Given the description of an element on the screen output the (x, y) to click on. 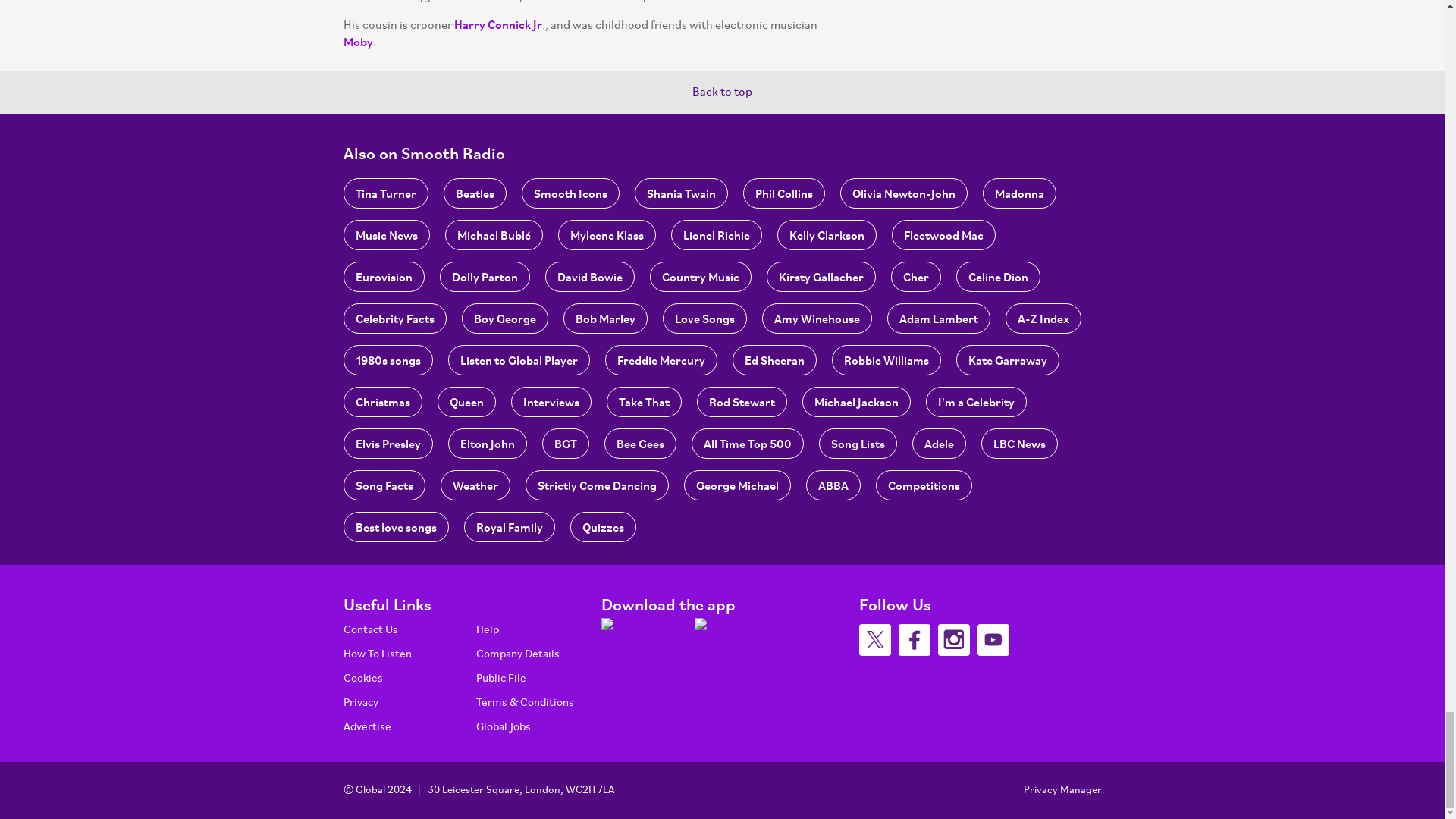
Follow Smooth on Youtube (992, 640)
Back to top (722, 92)
Follow Smooth on Instagram (953, 640)
Follow Smooth on Facebook (914, 640)
Follow Smooth on X (874, 640)
